Given the description of an element on the screen output the (x, y) to click on. 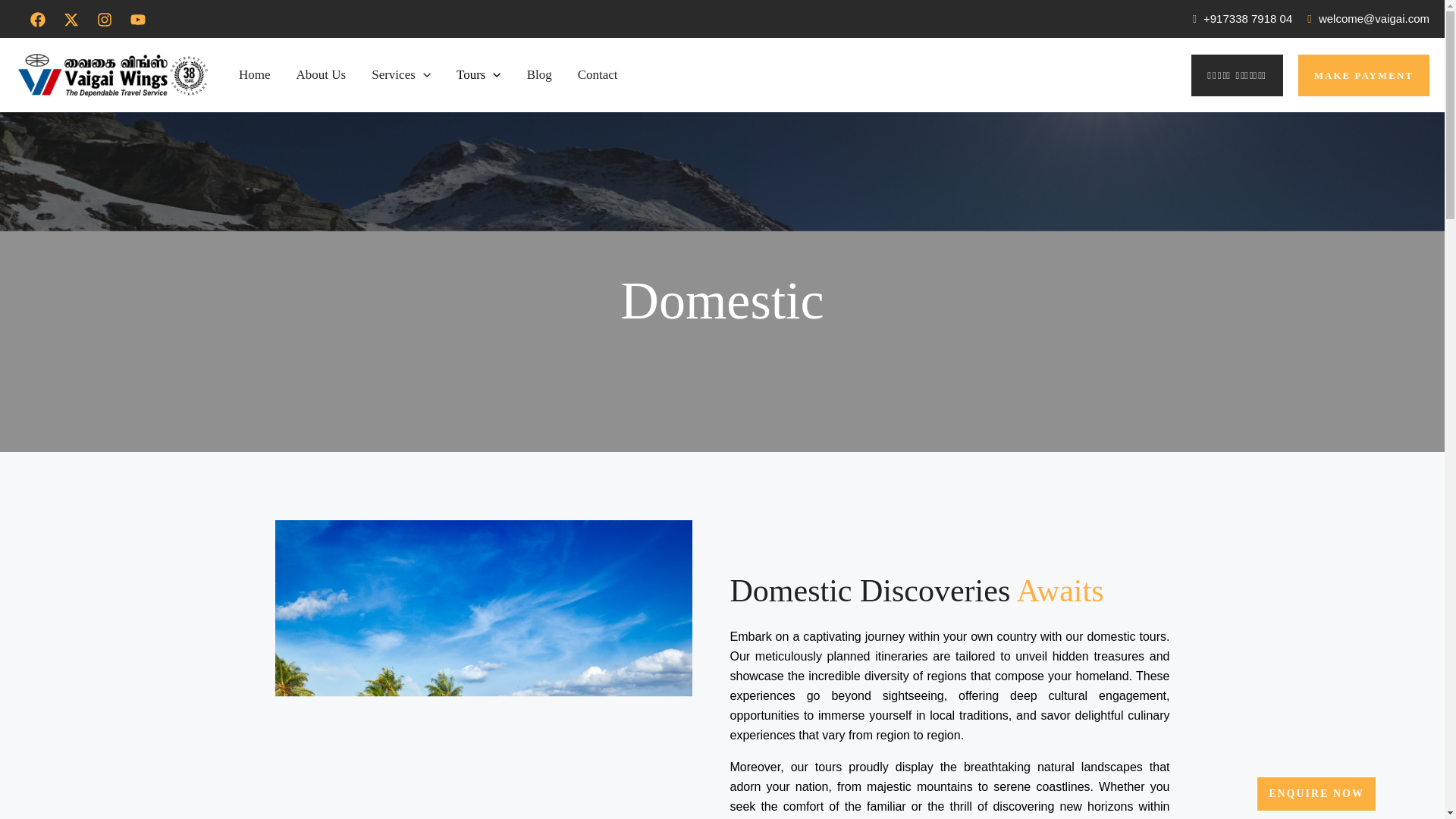
Services (401, 75)
Contact (597, 75)
Tours (478, 75)
Blog (538, 75)
Home (254, 75)
About Us (321, 75)
